Given the description of an element on the screen output the (x, y) to click on. 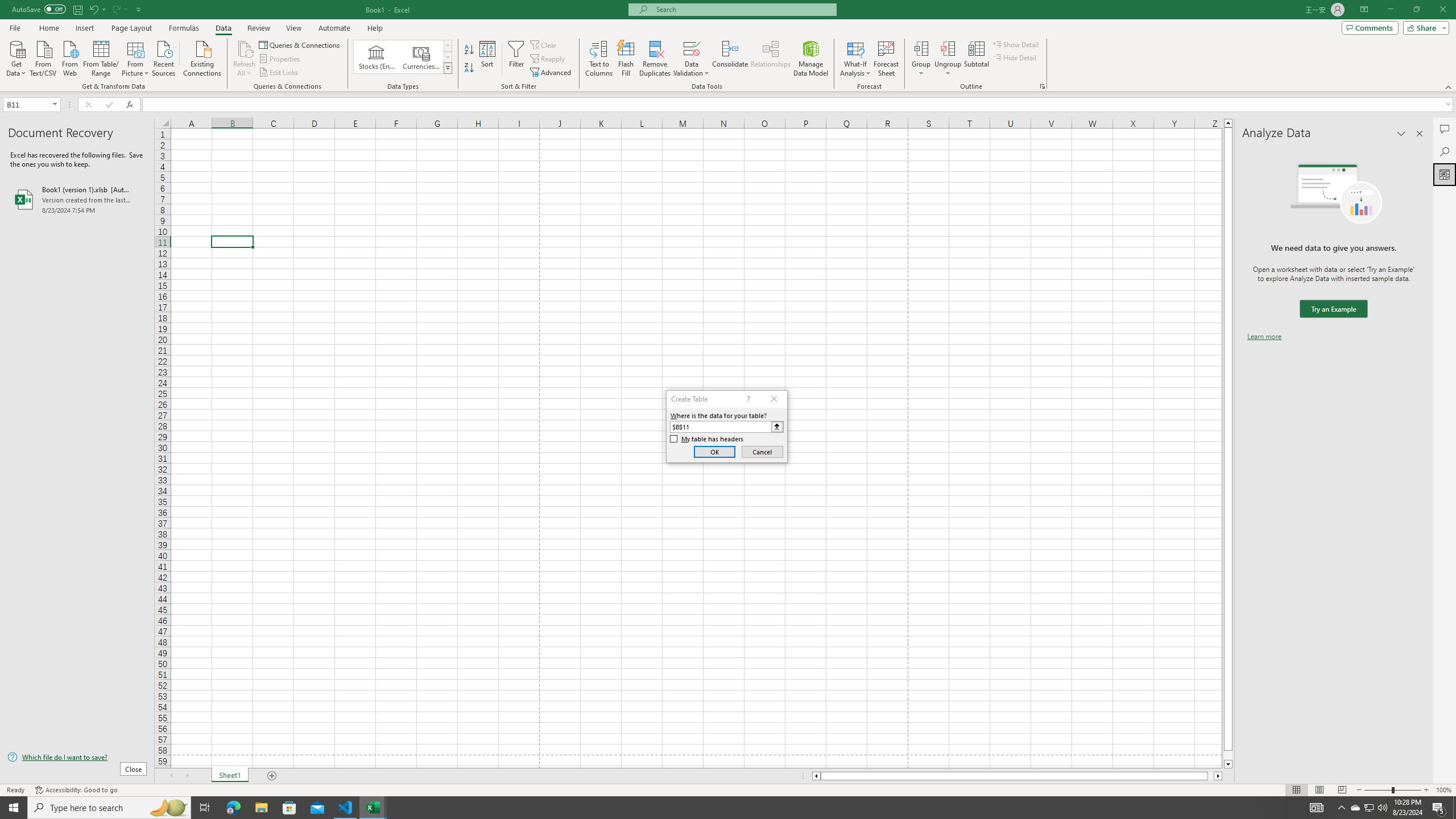
From Picture (135, 57)
